Given the description of an element on the screen output the (x, y) to click on. 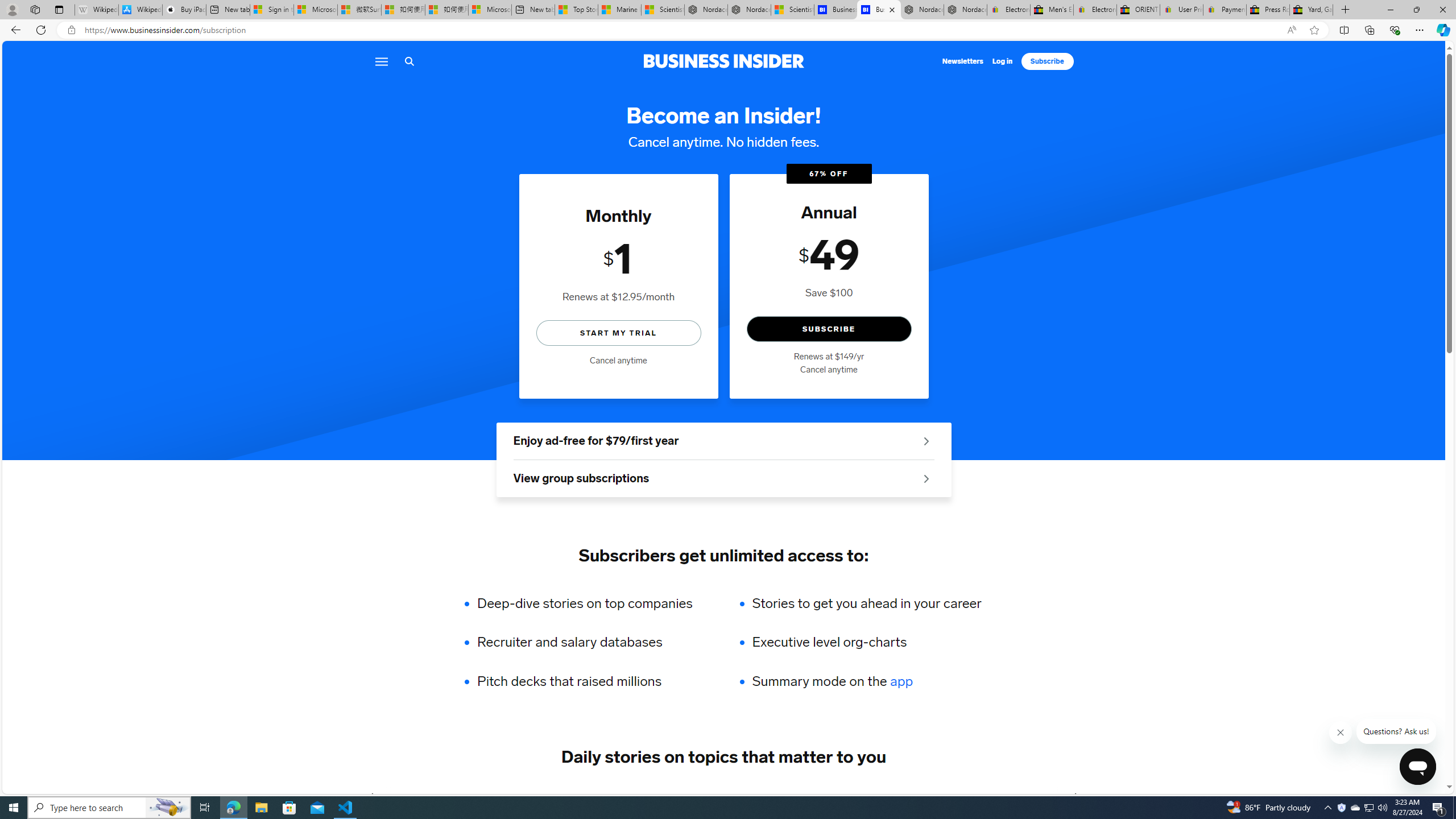
Cancel anytime (828, 369)
SUBSCRIBE (828, 329)
Enjoy ad-free for $79/first year (723, 441)
